Given the description of an element on the screen output the (x, y) to click on. 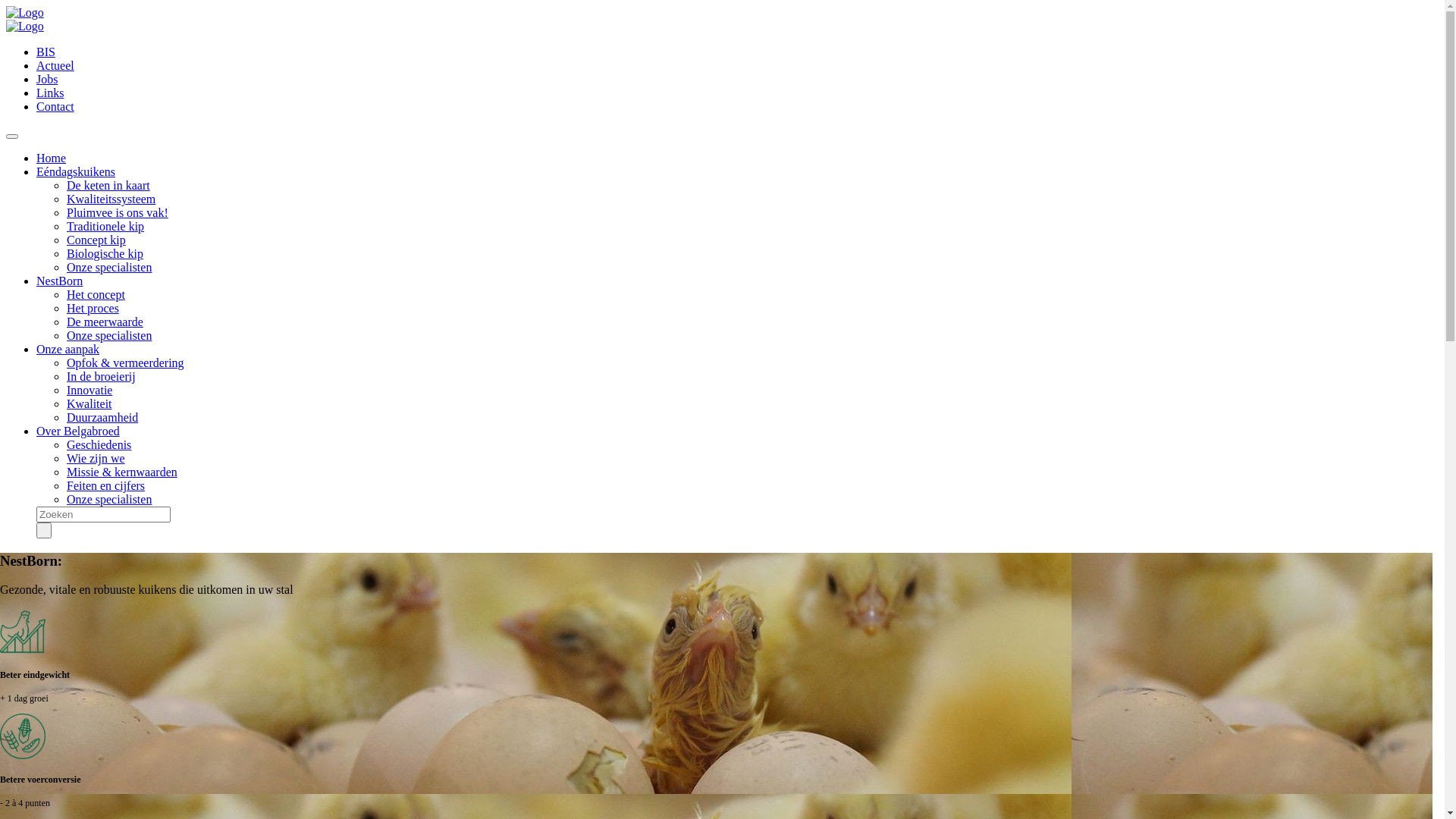
Onze aanpak Element type: text (67, 348)
Jobs Element type: text (46, 78)
Concept kip Element type: text (95, 239)
De keten in kaart Element type: text (108, 184)
Over Belgabroed Element type: text (77, 430)
Missie & kernwaarden Element type: text (121, 471)
  Element type: text (43, 530)
Wie zijn we Element type: text (95, 457)
Kwaliteitssysteem Element type: text (110, 198)
Traditionele kip Element type: text (105, 225)
Links Element type: text (49, 92)
De meerwaarde Element type: text (104, 321)
Het concept Element type: text (95, 294)
Geschiedenis Element type: text (98, 444)
Het proces Element type: text (92, 307)
NestBorn Element type: text (59, 280)
Kwaliteit Element type: text (89, 403)
Pluimvee is ons vak! Element type: text (117, 212)
Opfok & vermeerdering Element type: text (125, 362)
Innovatie Element type: text (89, 389)
Onze specialisten Element type: text (108, 335)
Feiten en cijfers Element type: text (105, 485)
Onze specialisten Element type: text (108, 266)
Actueel Element type: text (55, 65)
In de broeierij Element type: text (100, 376)
Biologische kip Element type: text (104, 253)
Contact Element type: text (55, 106)
Onze specialisten Element type: text (108, 498)
Duurzaamheid Element type: text (102, 417)
BIS Element type: text (45, 51)
Home Element type: text (50, 157)
